Given the description of an element on the screen output the (x, y) to click on. 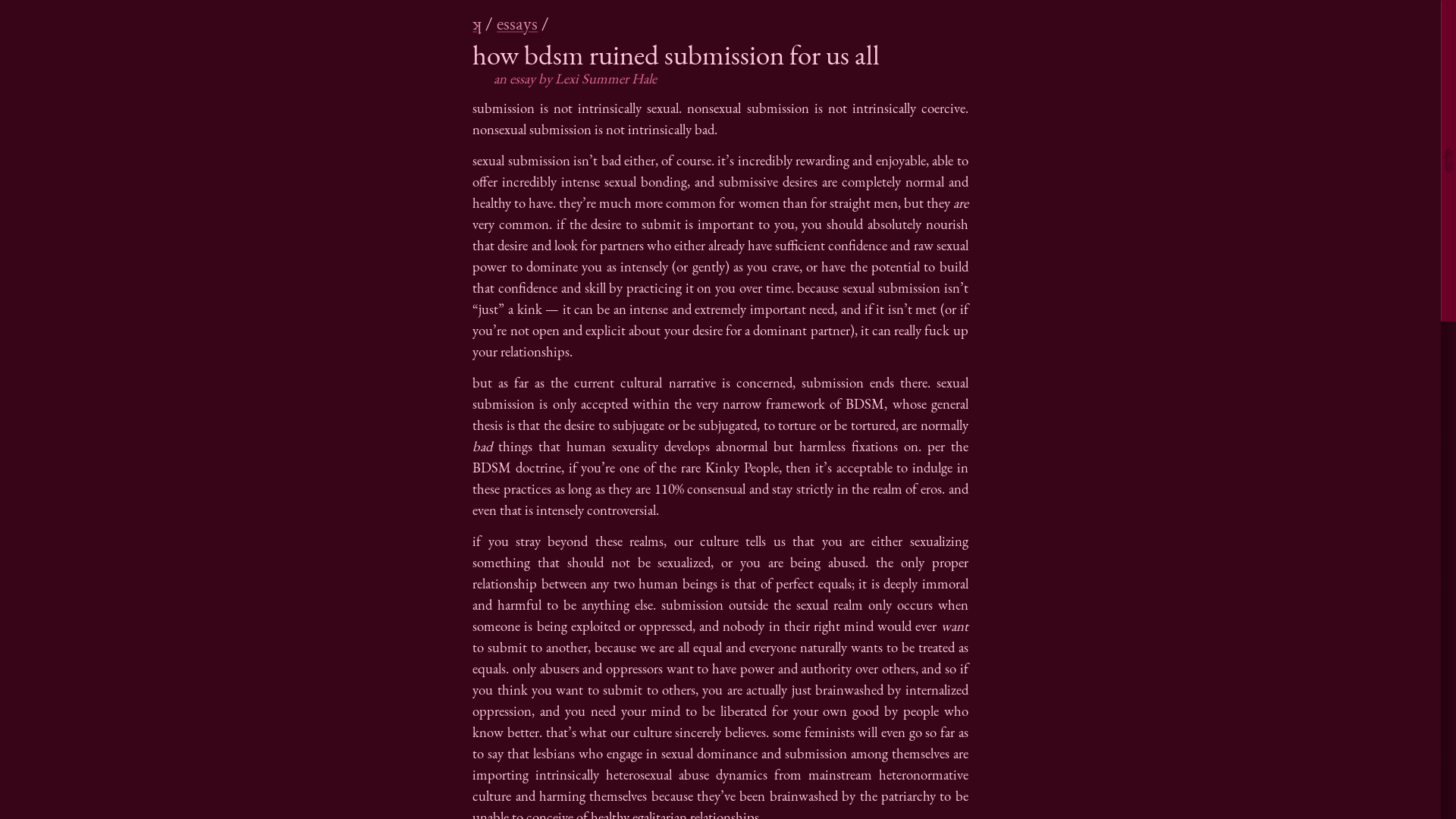
essays Element type: text (516, 22)
